Given the description of an element on the screen output the (x, y) to click on. 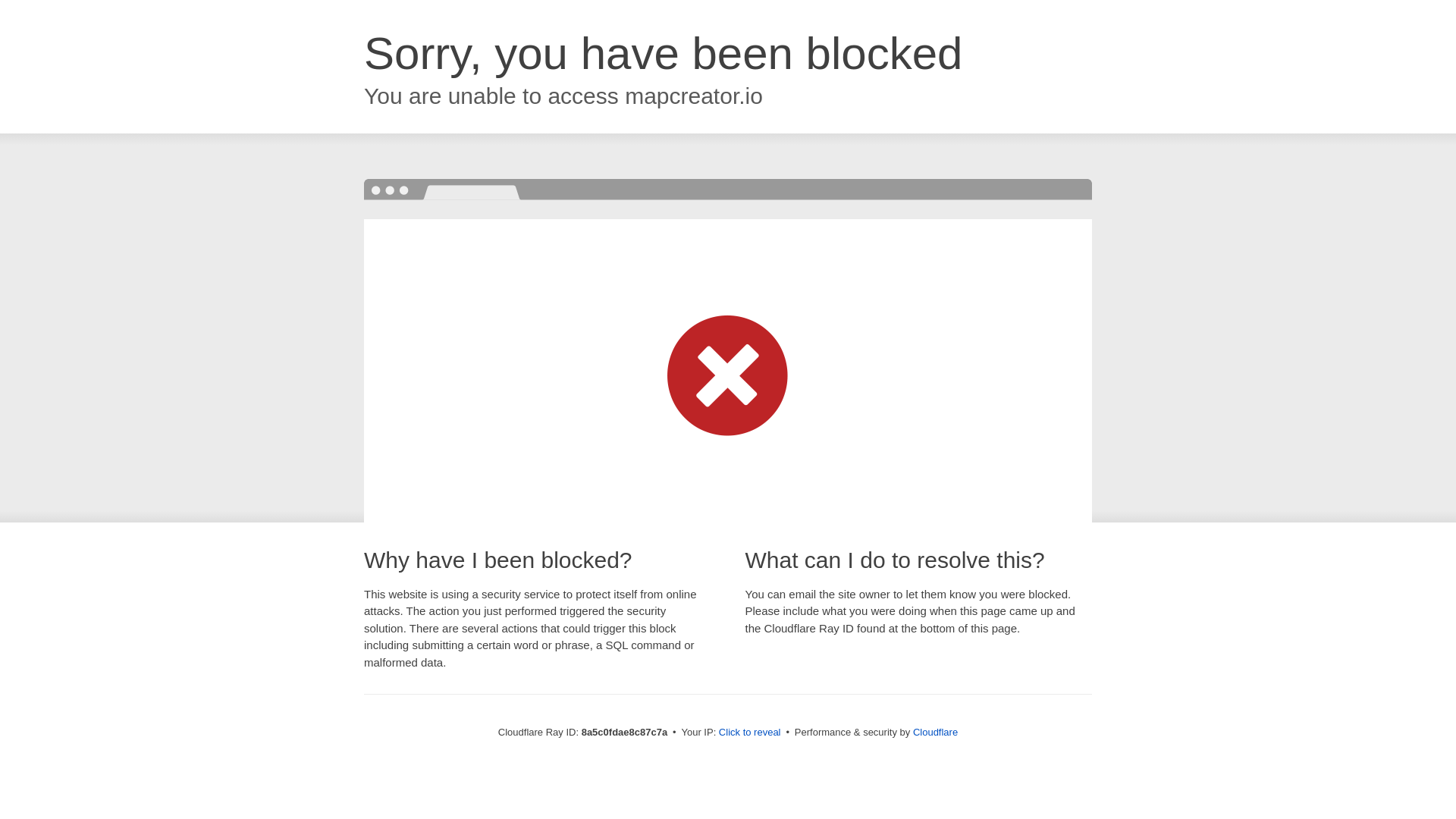
Cloudflare (935, 731)
Click to reveal (749, 732)
